Given the description of an element on the screen output the (x, y) to click on. 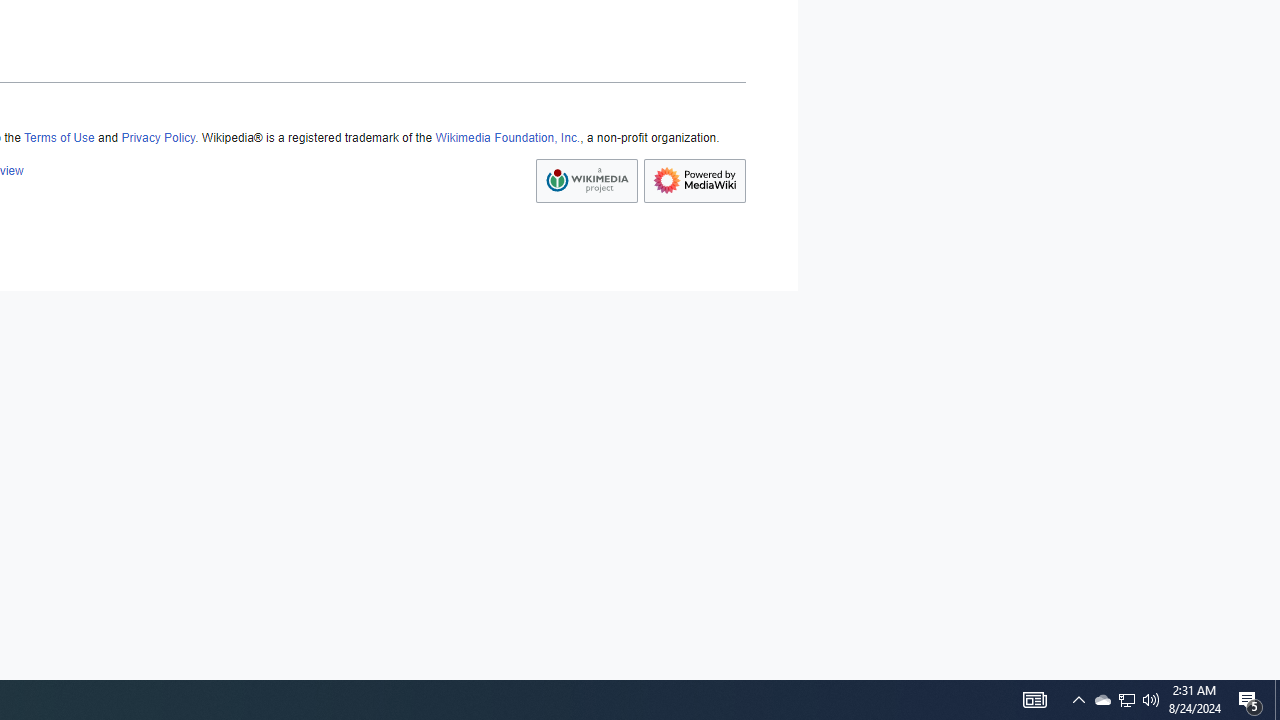
Wikimedia Foundation (586, 180)
Wikimedia Foundation, Inc. (508, 138)
AutomationID: footer-copyrightico (586, 180)
Privacy Policy (158, 138)
AutomationID: footer-poweredbyico (694, 180)
Powered by MediaWiki (694, 180)
Terms of Use (58, 138)
